Given the description of an element on the screen output the (x, y) to click on. 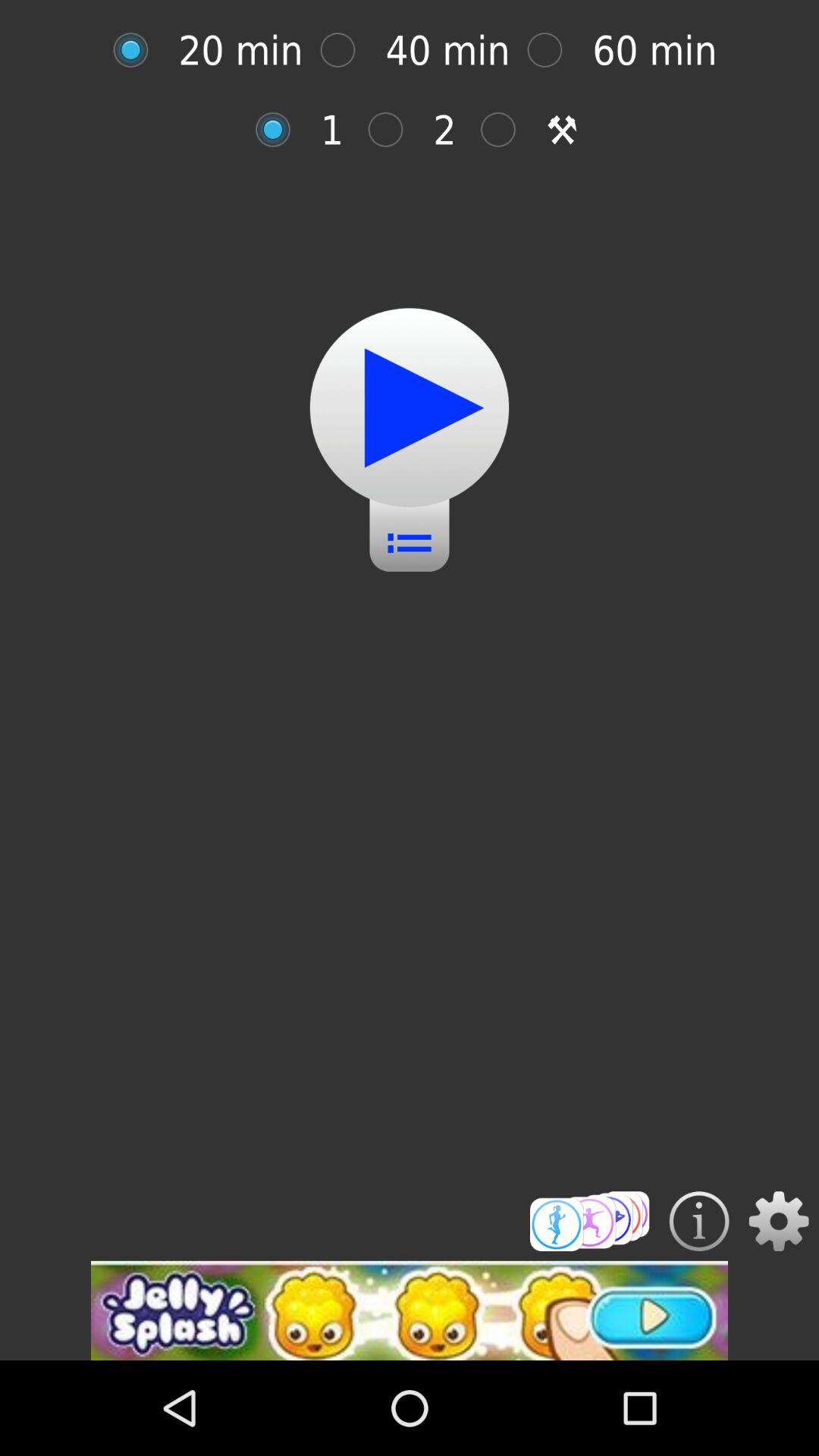
time (138, 49)
